Given the description of an element on the screen output the (x, y) to click on. 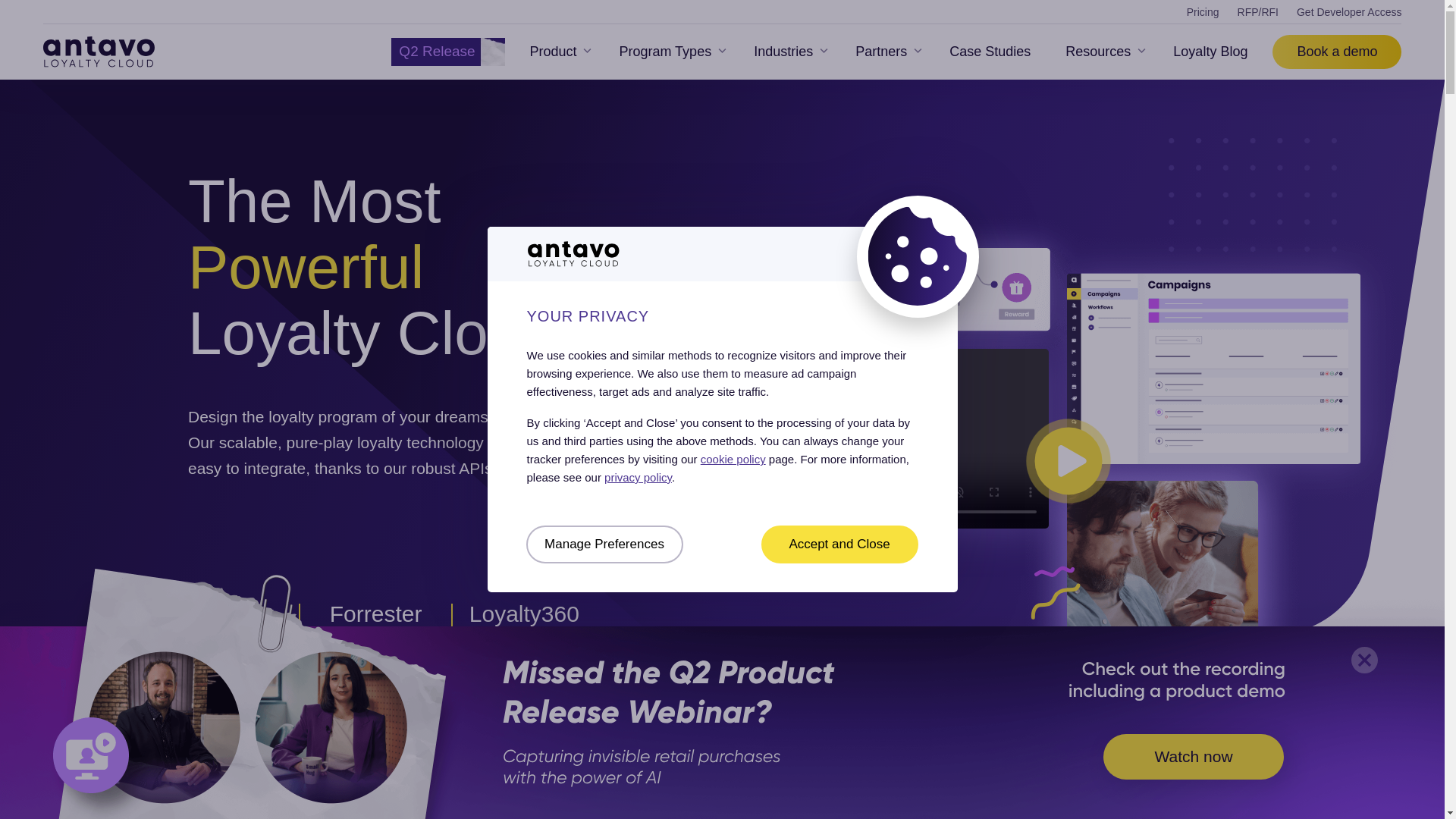
Q2 Release (451, 51)
Get Developer Access (1349, 11)
Book a demo (1336, 51)
Program Types (668, 51)
Loyalty Blog (1214, 51)
Case Studies (989, 51)
Pricing (1203, 11)
Product (556, 51)
Industries (787, 51)
Resources (1102, 51)
Partners (884, 51)
